Given the description of an element on the screen output the (x, y) to click on. 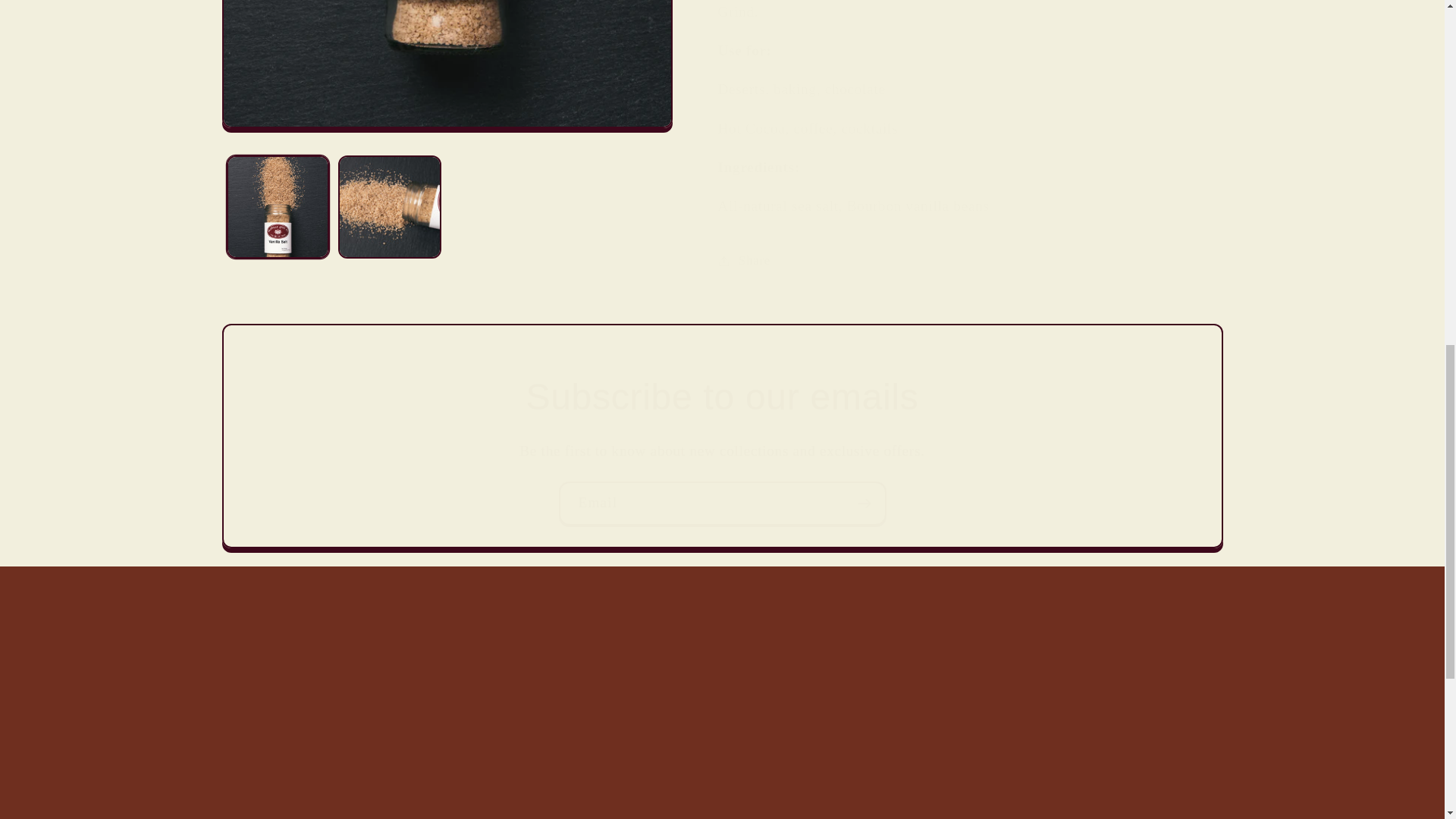
Email (721, 503)
Subscribe to our emails (721, 396)
Open media 1 in modal (446, 25)
